Given the description of an element on the screen output the (x, y) to click on. 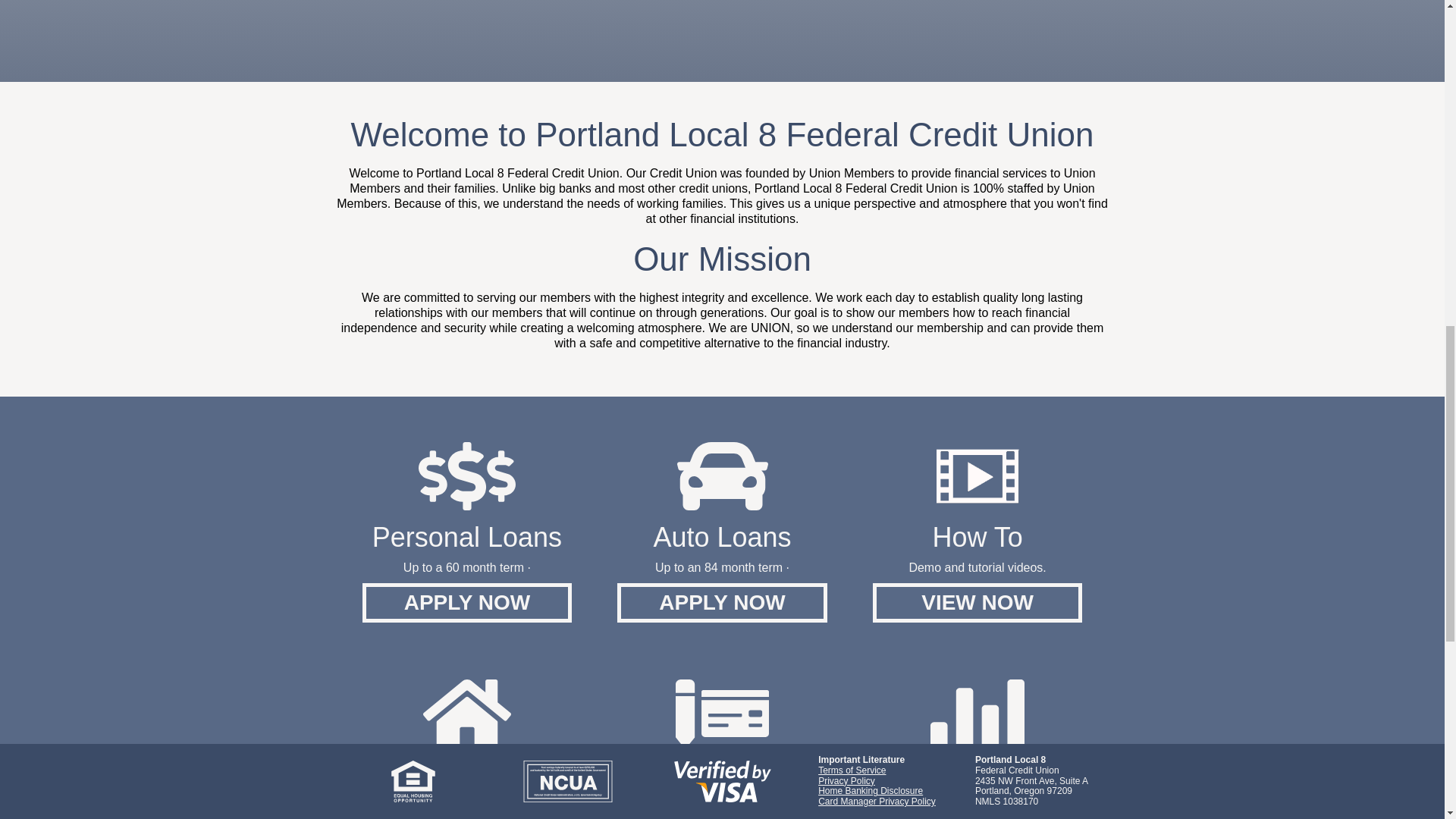
APPLY NOW (467, 602)
VIEW NOW (977, 602)
APPLY NOW (722, 602)
